Given the description of an element on the screen output the (x, y) to click on. 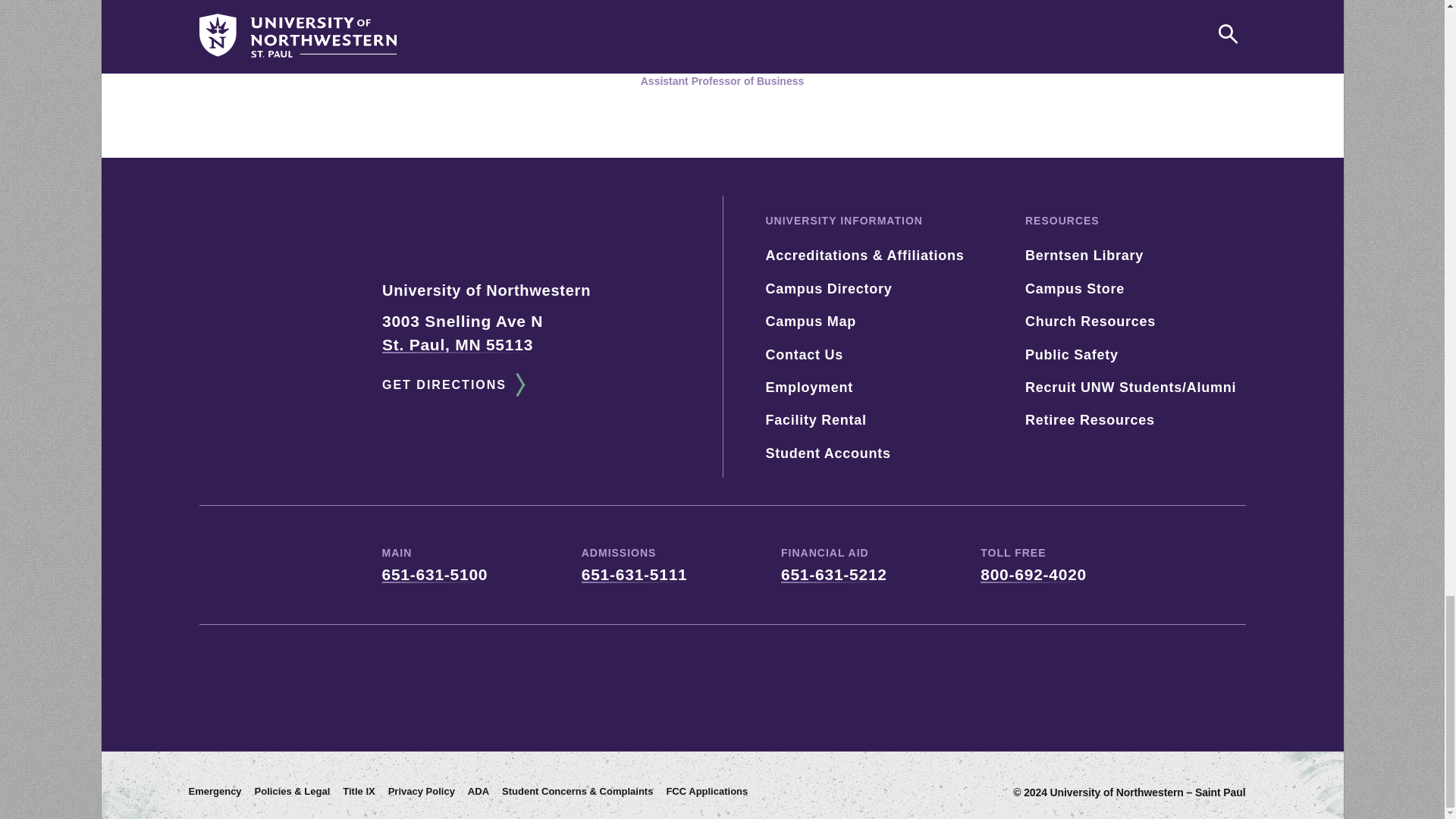
Social Facebook (679, 681)
Title IX (358, 792)
GET DIRECTIONS (451, 384)
Social Twitter (595, 681)
Berntsen Library (1083, 255)
651-631-5212 (833, 574)
Social Linkedin (848, 681)
Facility Rental (815, 419)
Privacy Policy (421, 792)
Retiree Resources (1089, 419)
Employment (809, 387)
Campus Map (811, 321)
Student Accounts (828, 453)
Campus Directory (828, 288)
FCC Applications (706, 792)
